Given the description of an element on the screen output the (x, y) to click on. 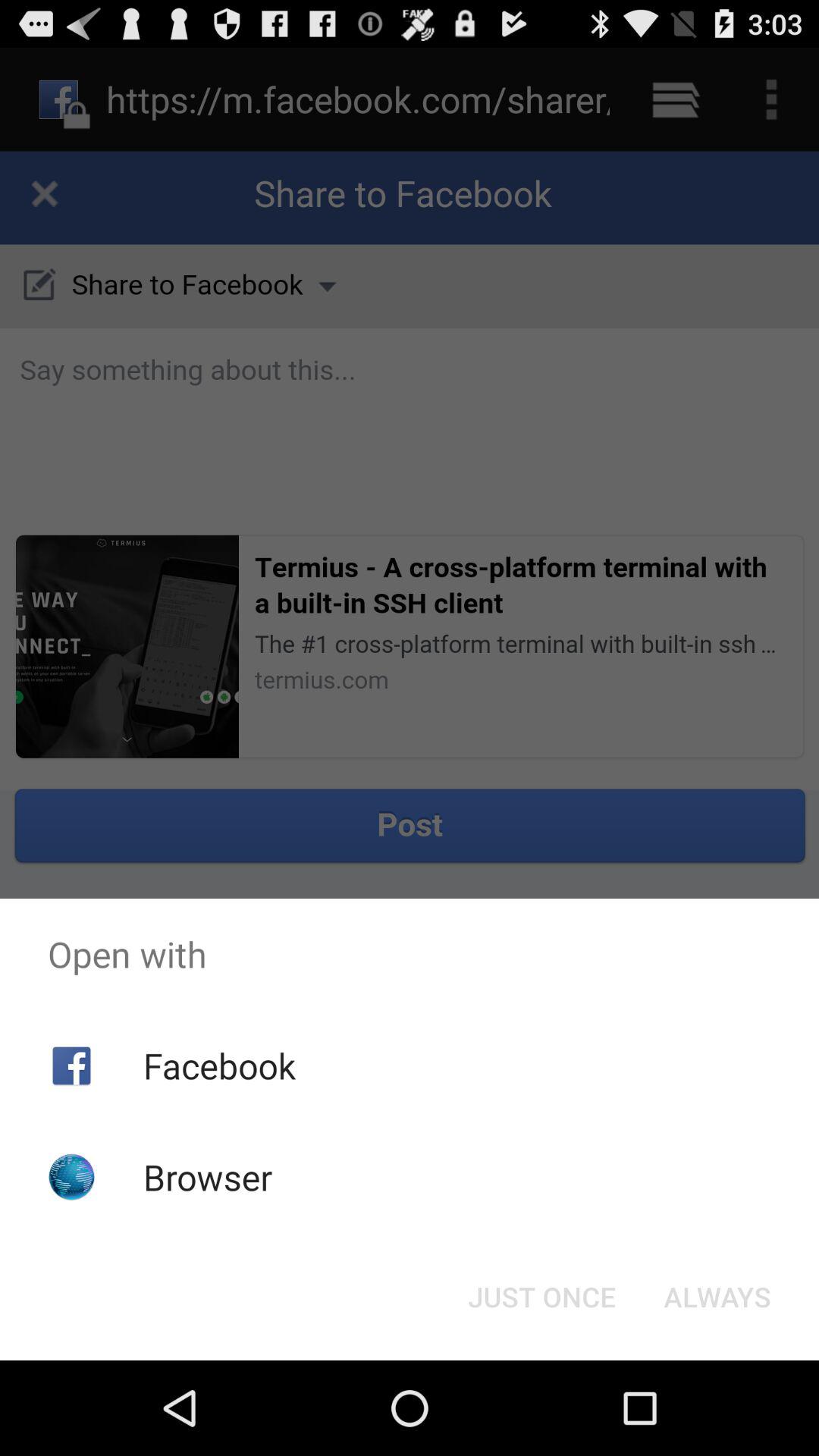
open the browser icon (207, 1176)
